Given the description of an element on the screen output the (x, y) to click on. 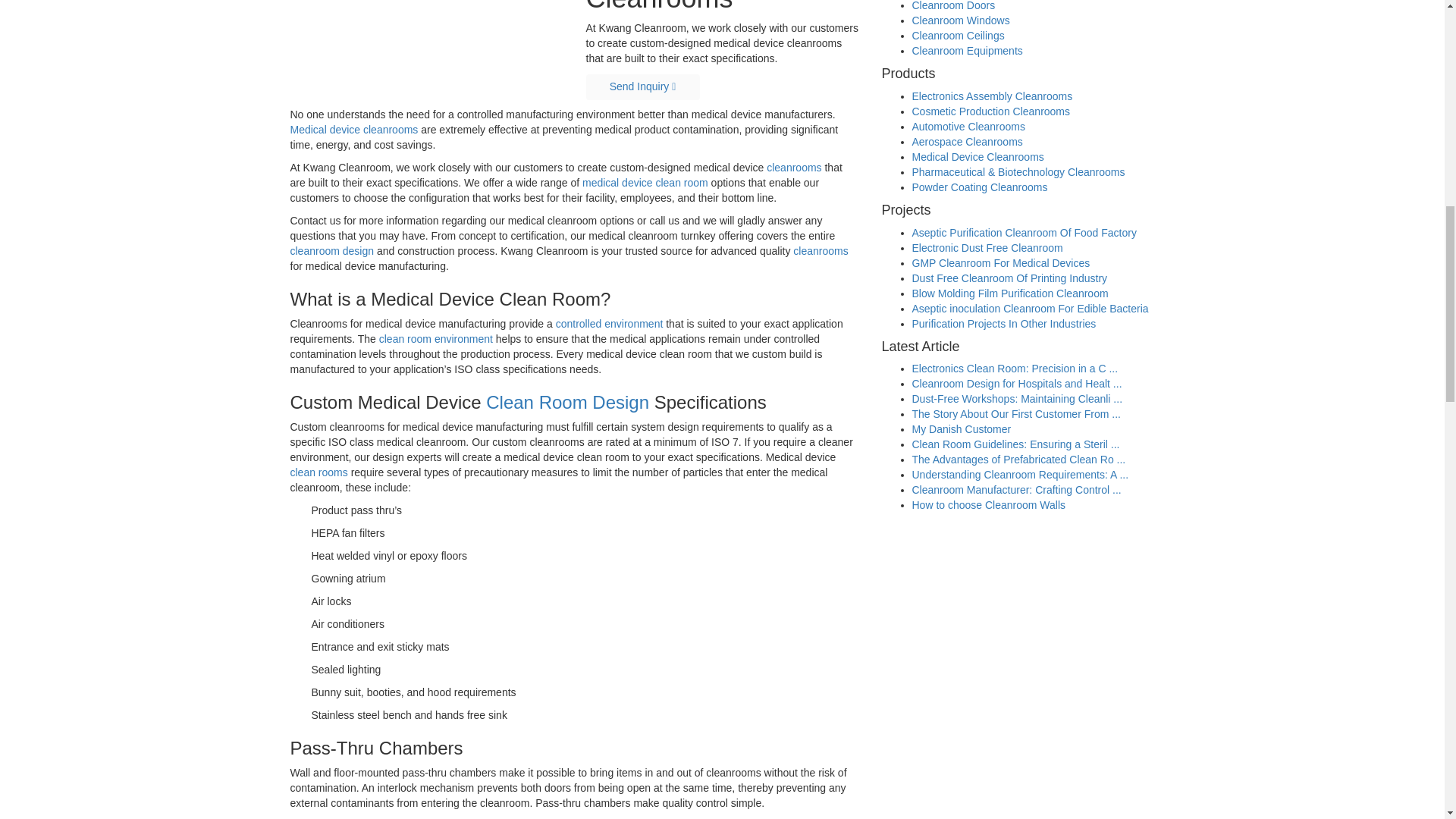
Cosmetic Production Cleanrooms (990, 111)
Dust Free Cleanroom Of Printing Industry (1008, 277)
Cleanroom Ceilings (957, 35)
GMP Cleanroom For Medical Devices (1000, 263)
Aerospace Cleanrooms (966, 141)
Electronics Assembly Cleanrooms (991, 96)
Medical Device Cleanrooms (977, 156)
Blow Molding Film Purification Cleanroom (1009, 293)
Automotive Cleanrooms (968, 126)
Cleanroom Equipments (966, 50)
Cleanroom Doors (952, 5)
Cleanroom Windows (960, 20)
Purification Projects In Other Industries (1003, 323)
Aseptic Purification Cleanroom Of Food Factory (1023, 232)
Powder Coating Cleanrooms (978, 186)
